Given the description of an element on the screen output the (x, y) to click on. 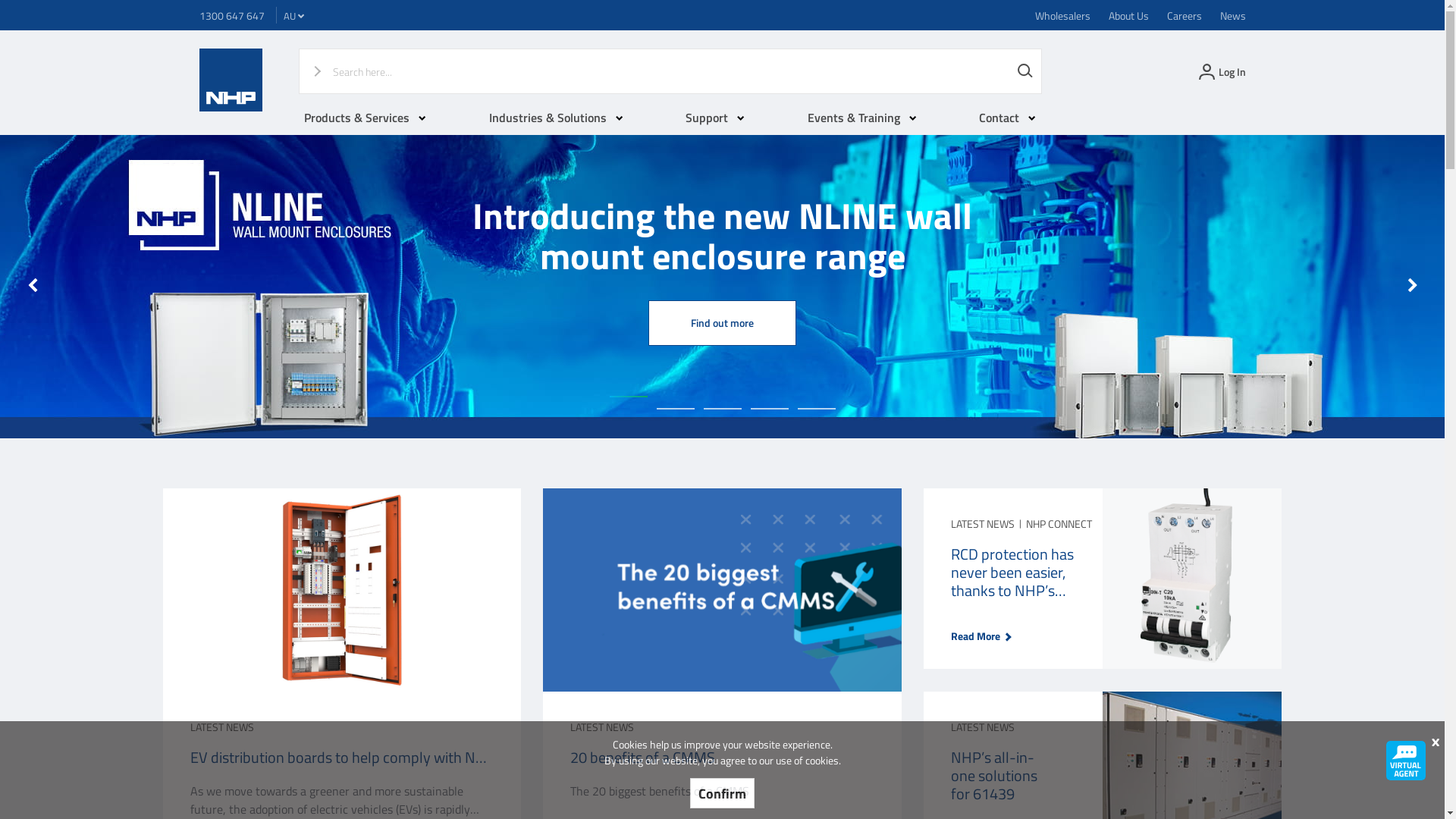
News Element type: text (1232, 15)
Read More Element type: text (975, 635)
Support Element type: text (714, 117)
Wholesalers Element type: text (1061, 15)
Products & Services Element type: text (365, 117)
Contact Element type: text (1007, 117)
X Element type: text (1434, 741)
Search Element type: text (1024, 70)
About Us Element type: text (1128, 15)
Careers Element type: text (1183, 15)
Confirm Element type: text (722, 793)
Find out more Element type: text (722, 325)
Logo Element type: hover (229, 107)
Events & Training Element type: text (861, 117)
Industries & Solutions Element type: text (556, 117)
Log In Element type: text (1220, 71)
1300 647 647 Element type: text (230, 15)
